Given the description of an element on the screen output the (x, y) to click on. 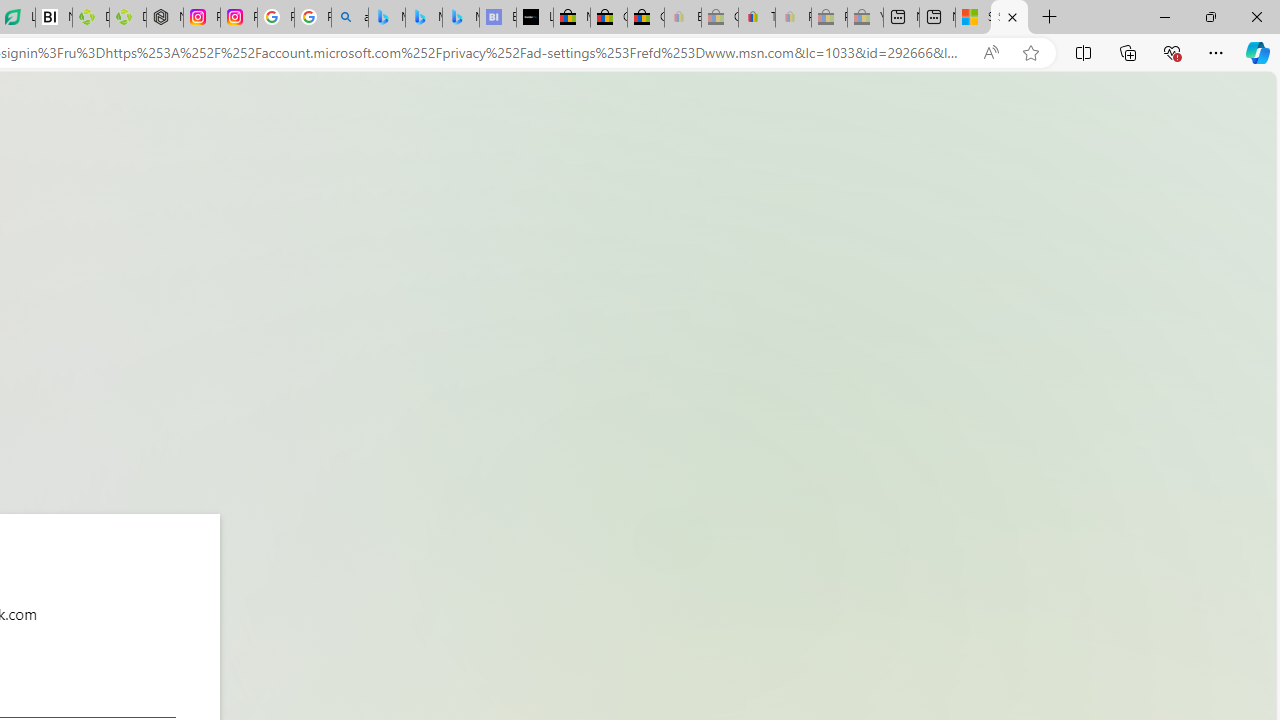
Microsoft Bing Travel - Flights from Hong Kong to Bangkok (386, 17)
Payments Terms of Use | eBay.com - Sleeping (793, 17)
Press Room - eBay Inc. - Sleeping (829, 17)
Microsoft Bing Travel - Shangri-La Hotel Bangkok (460, 17)
Nvidia va a poner a prueba la paciencia de los inversores (53, 17)
